Given the description of an element on the screen output the (x, y) to click on. 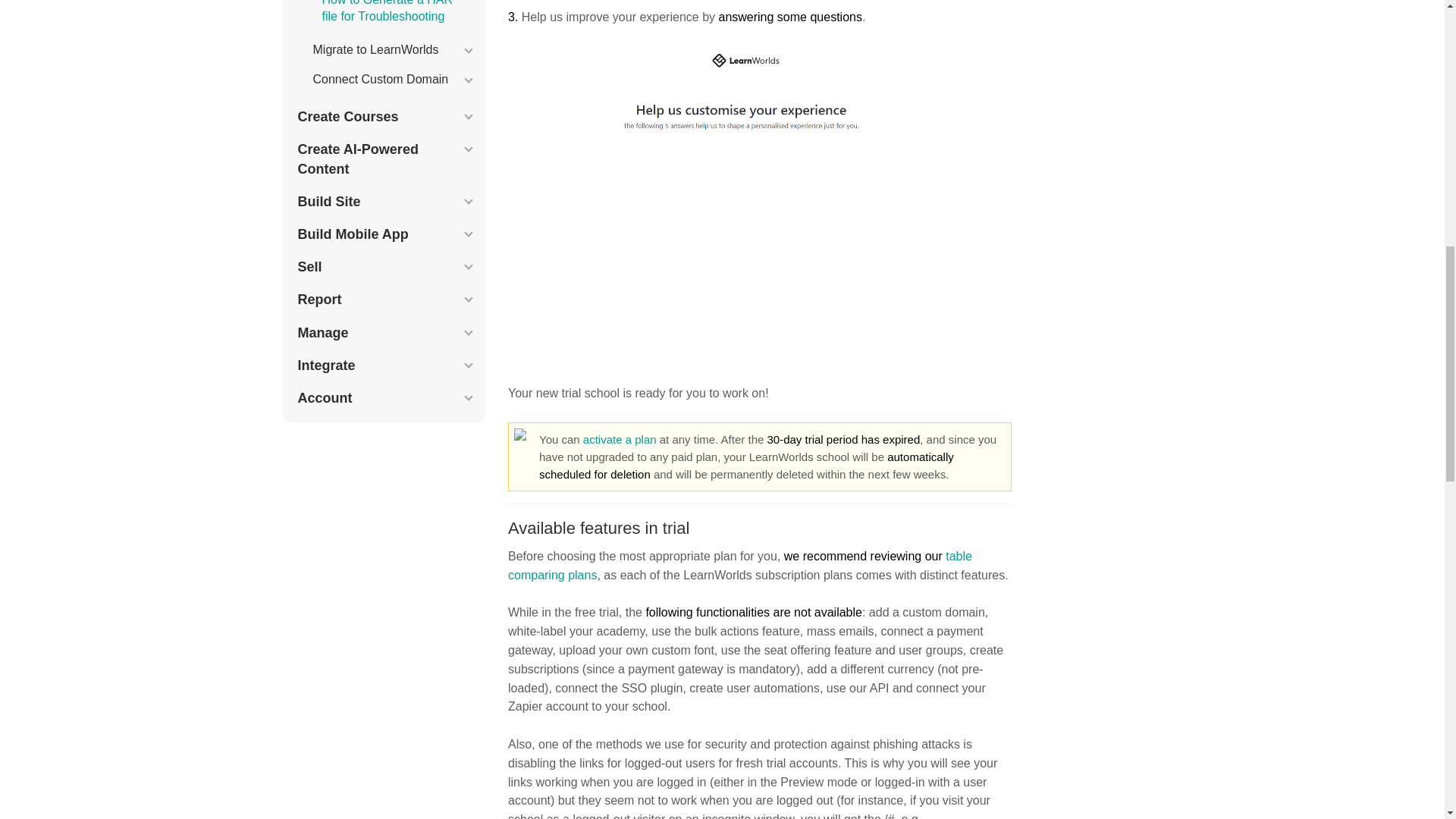
Connect Custom Domain (387, 79)
How to Generate a HAR file for Troubleshooting (387, 12)
Migrate to LearnWorlds (387, 49)
